Given the description of an element on the screen output the (x, y) to click on. 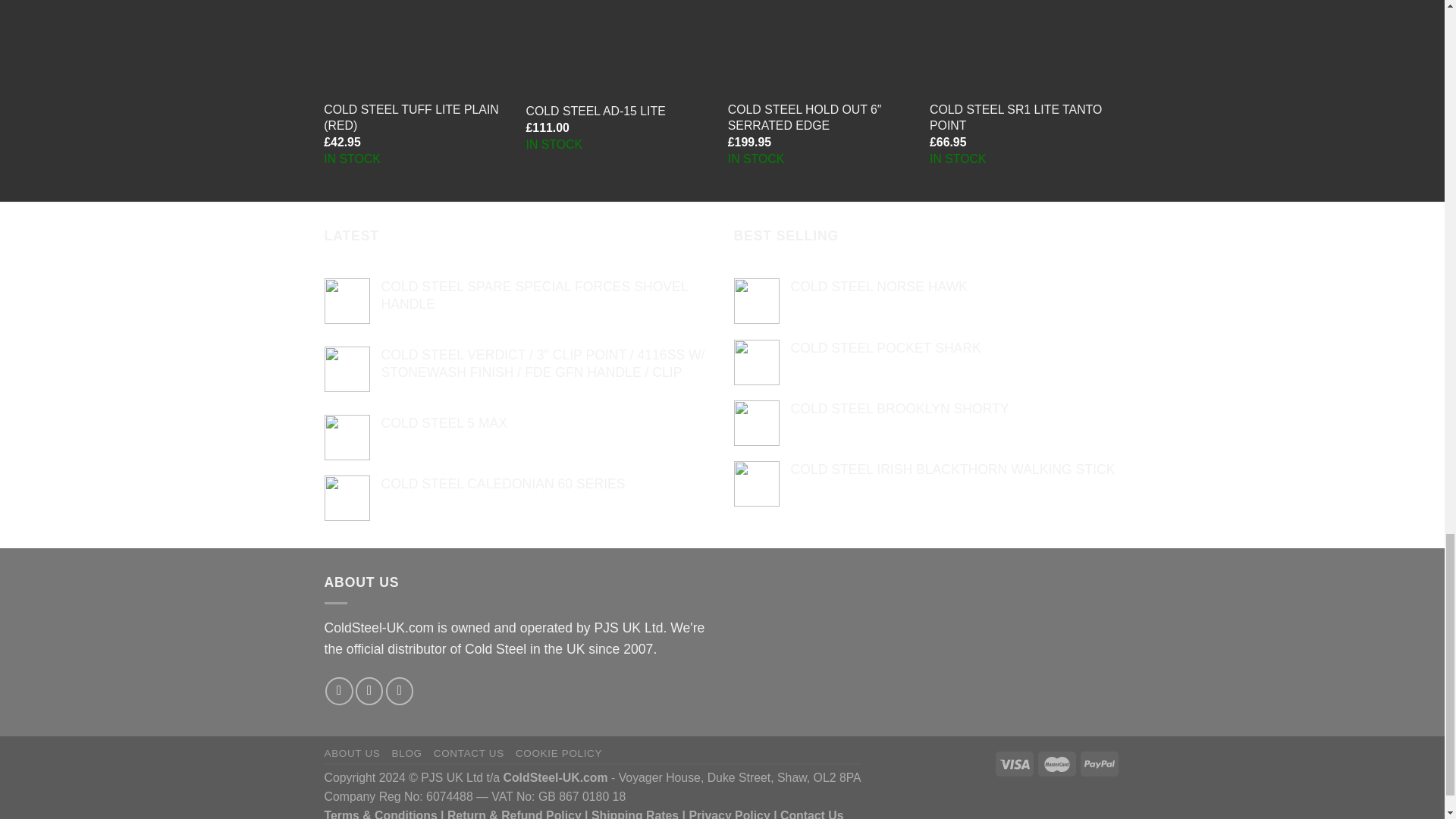
Follow on Twitter (368, 690)
Send us an email (399, 690)
Follow on Facebook (338, 690)
